Given the description of an element on the screen output the (x, y) to click on. 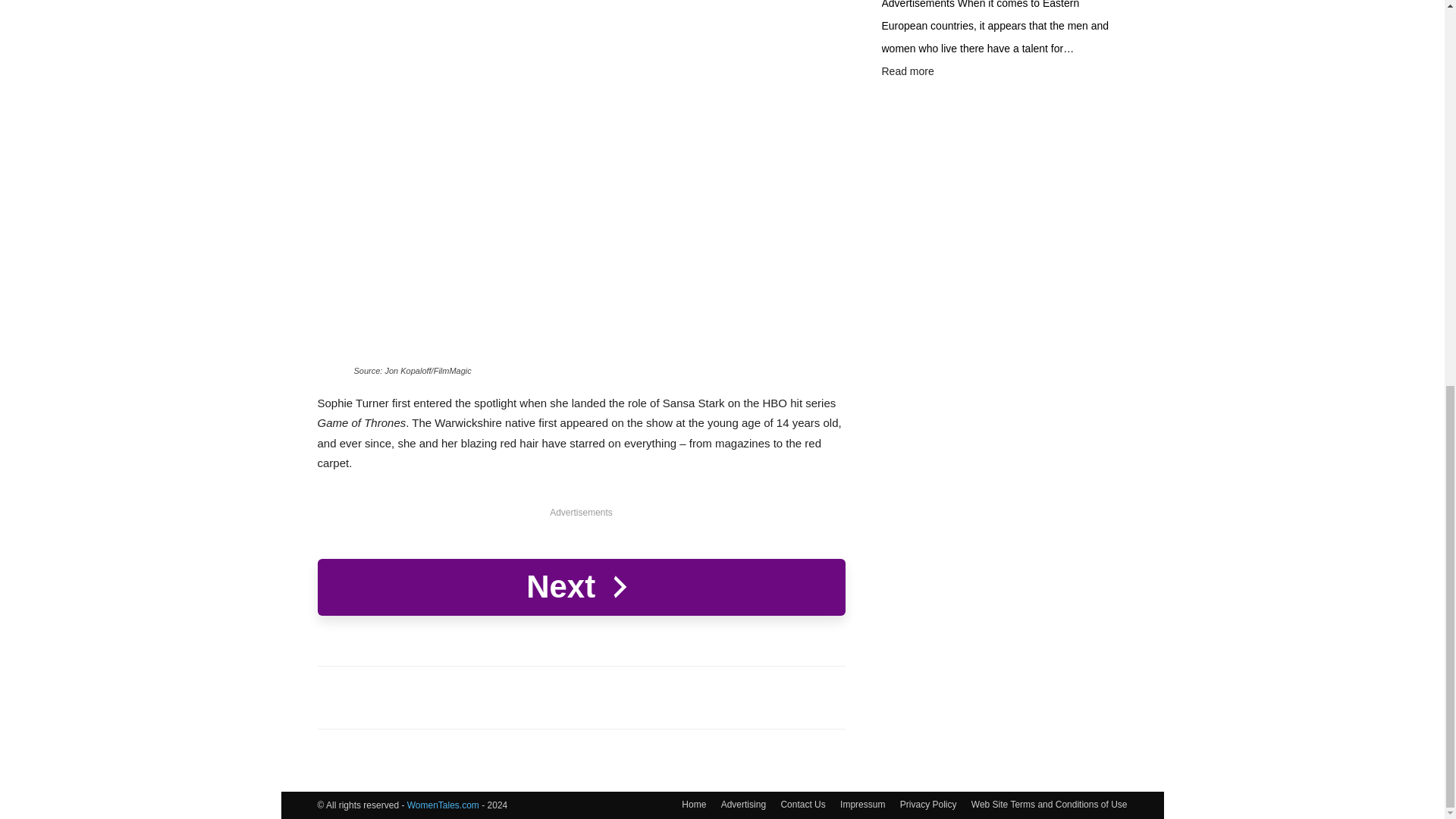
Next (580, 586)
Next  (580, 586)
Home (693, 804)
Advertising (742, 804)
Contact Us (802, 804)
